Given the description of an element on the screen output the (x, y) to click on. 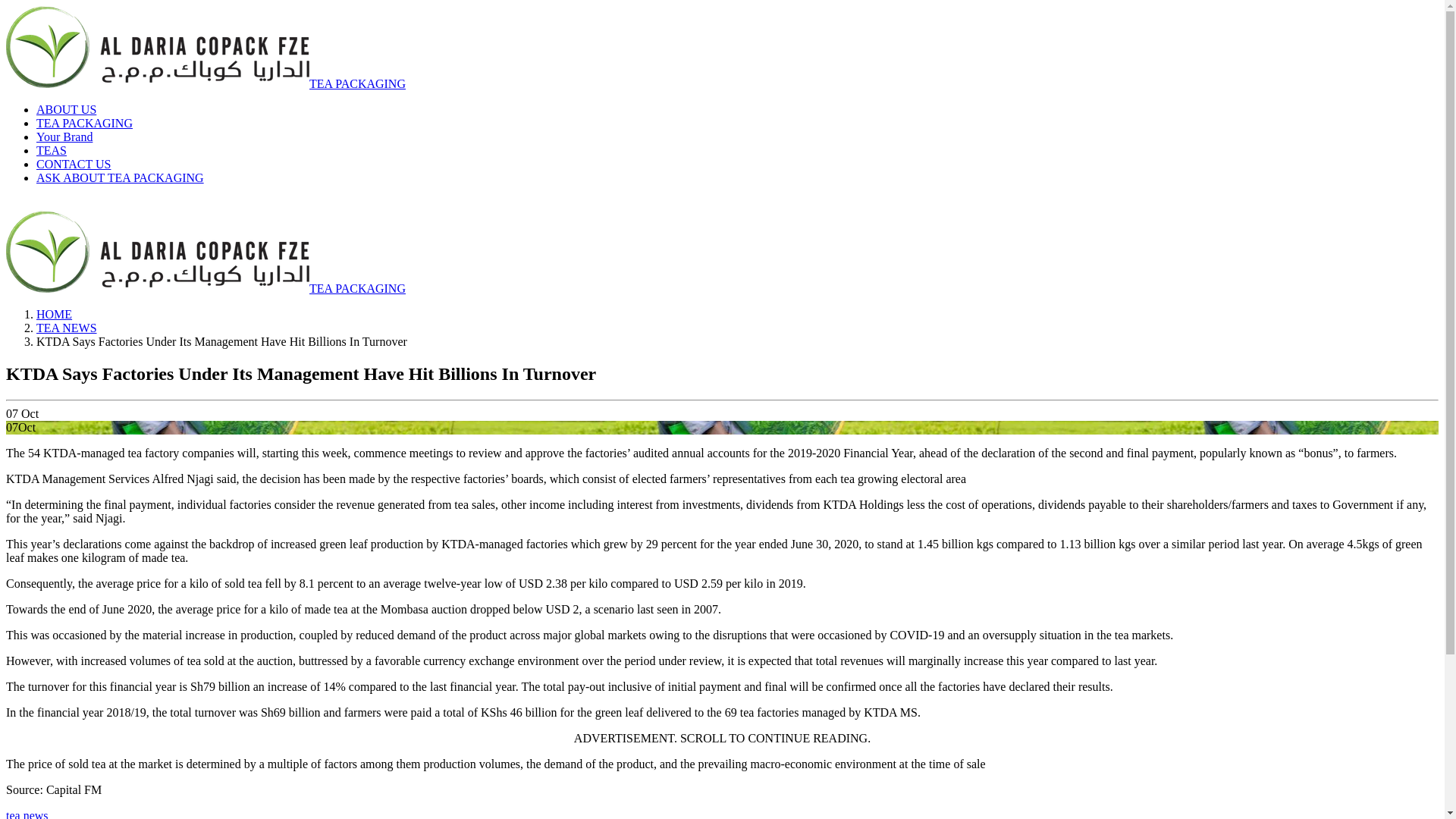
TEAS (51, 150)
TEA PACKAGING (205, 83)
CONTACT US (73, 164)
TEA PACKAGING (205, 287)
Your Brand (64, 136)
tea news (26, 814)
ASK ABOUT TEA PACKAGING (119, 177)
HOME (53, 314)
TEA PACKAGING (84, 123)
TEA NEWS (66, 327)
